Given the description of an element on the screen output the (x, y) to click on. 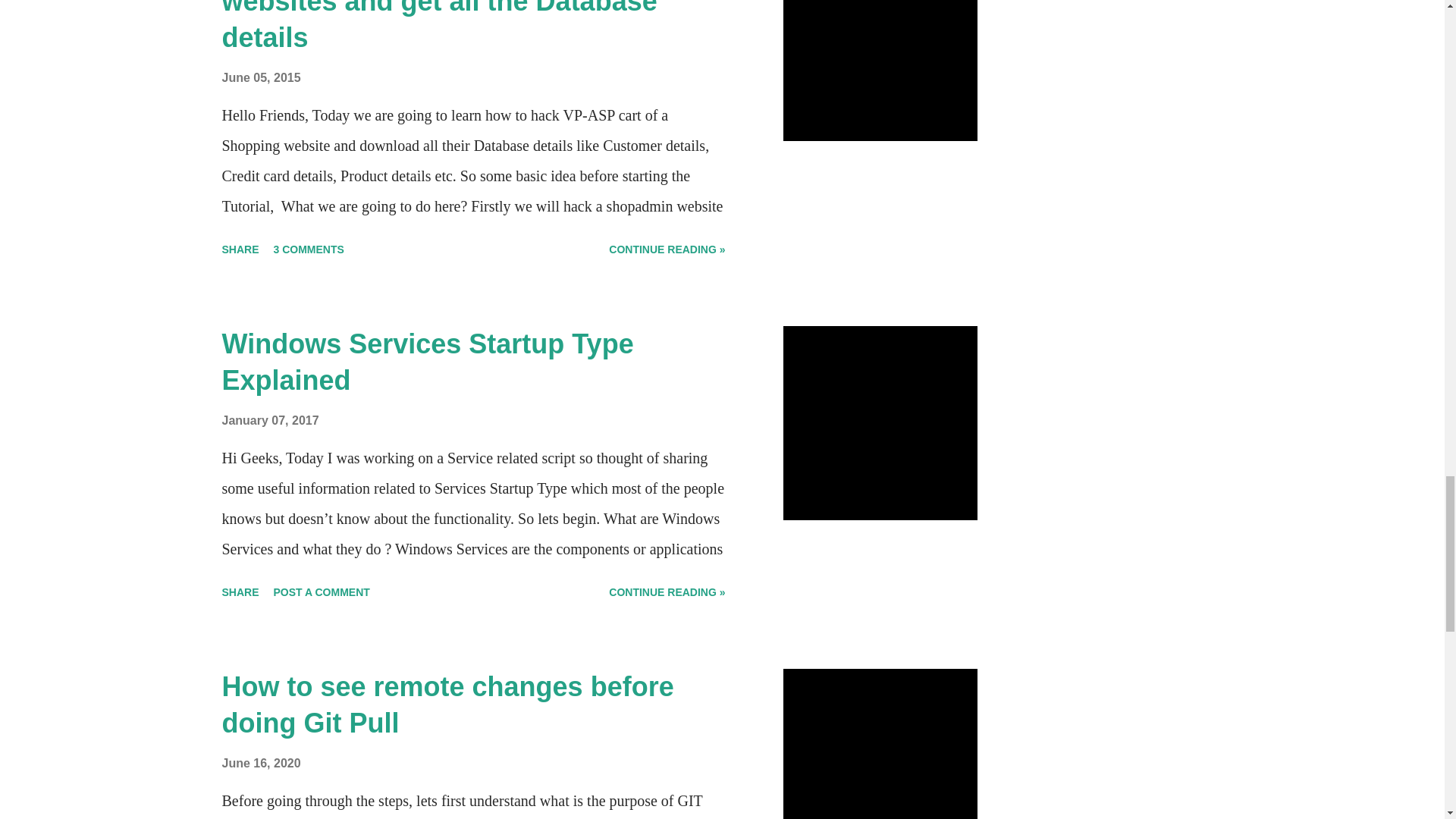
3 COMMENTS (308, 249)
Windows Services Startup Type Explained (427, 361)
SHARE (239, 249)
June 05, 2015 (260, 77)
